Given the description of an element on the screen output the (x, y) to click on. 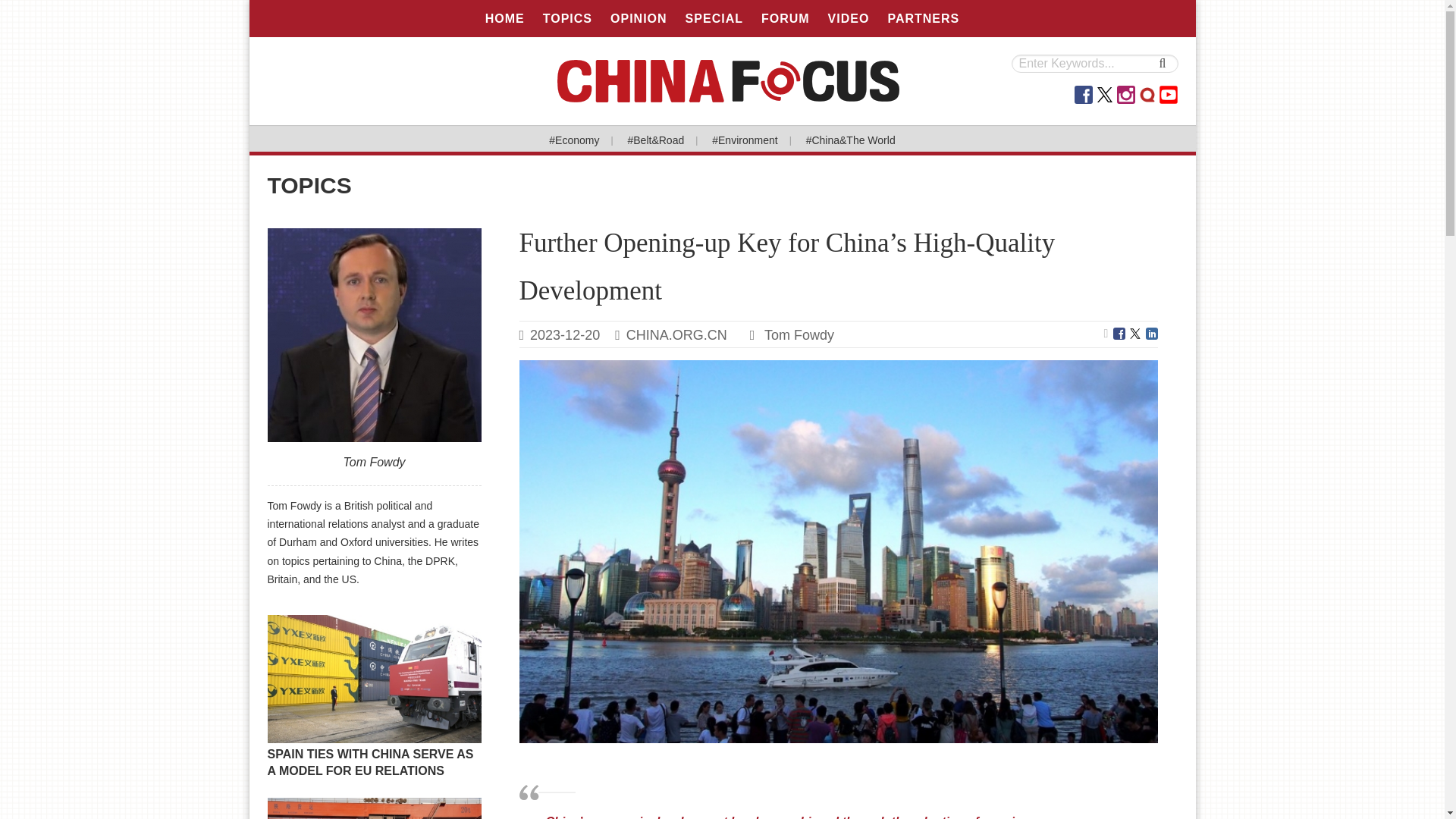
SPECIAL (714, 18)
TOPICS (567, 18)
FORUM (785, 18)
OPINION (639, 18)
VIDEO (848, 18)
HOME (505, 18)
